Given the description of an element on the screen output the (x, y) to click on. 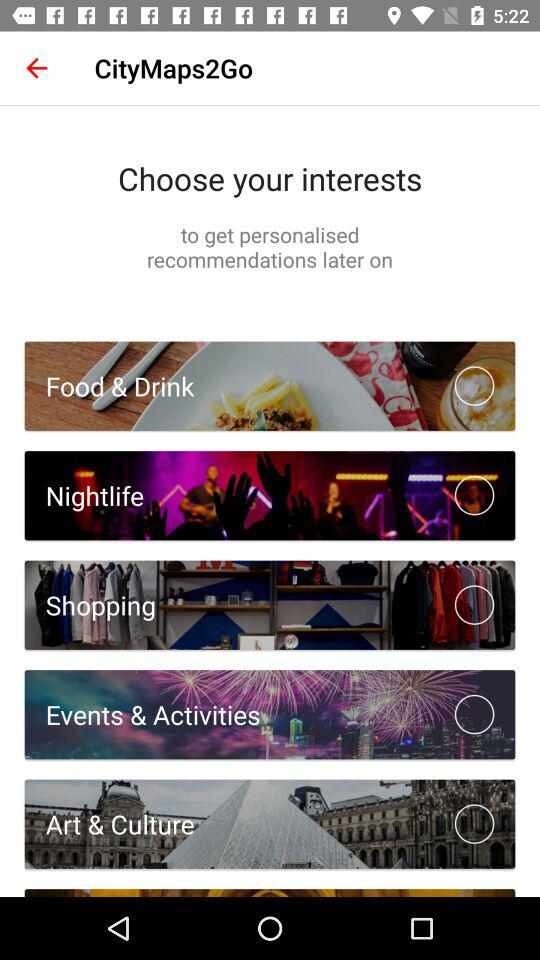
swipe until to get personalised item (270, 246)
